Given the description of an element on the screen output the (x, y) to click on. 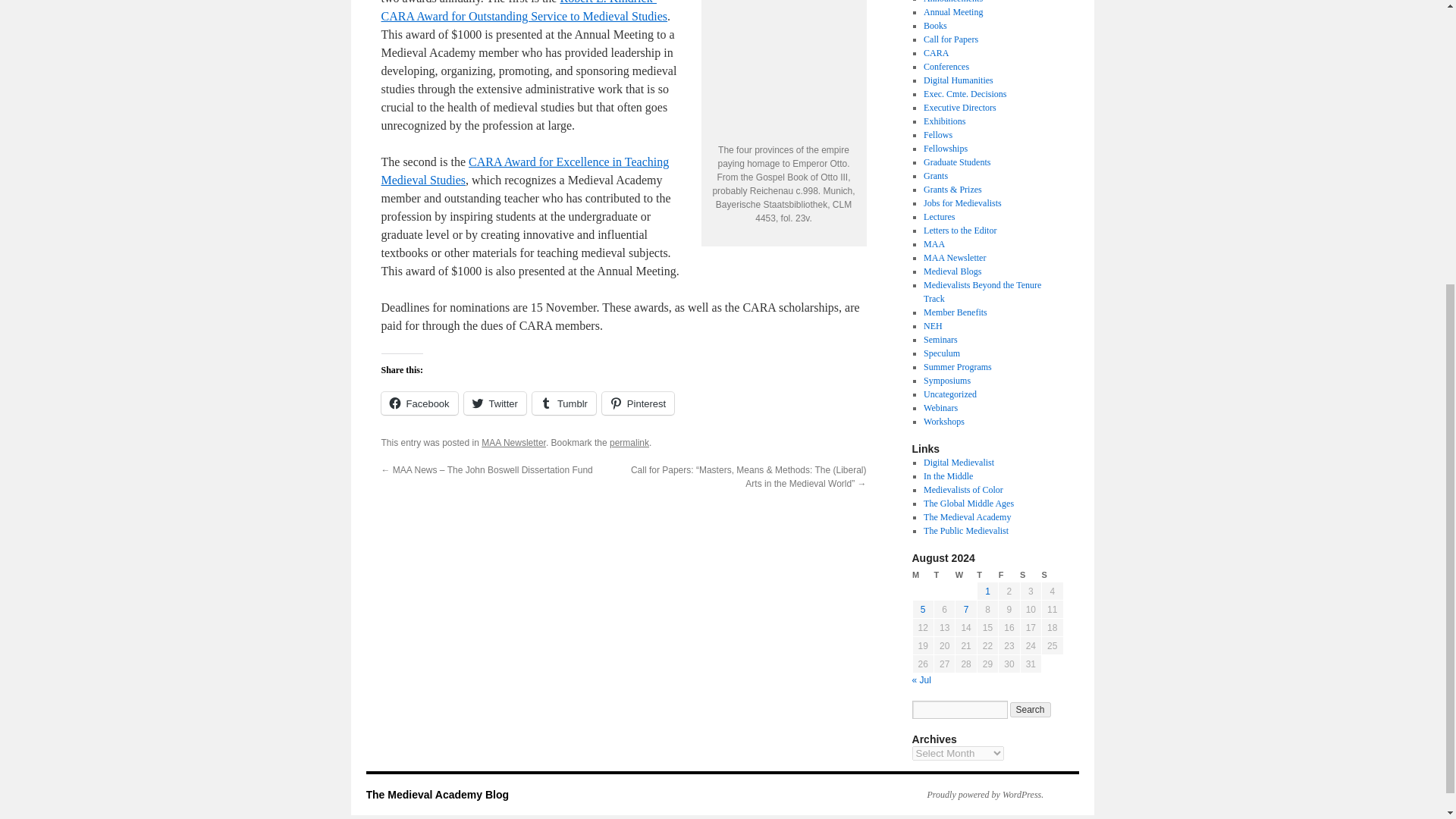
Books (935, 25)
CARA Award for Excellence in Teaching Medieval Studies (524, 170)
Twitter (494, 403)
Executive Directors (959, 107)
MAA Newsletter (513, 442)
Digital Humanities (957, 80)
Graduate Students (956, 162)
Click to share on Twitter (494, 403)
Pinterest (638, 403)
Exhibitions (944, 121)
